Given the description of an element on the screen output the (x, y) to click on. 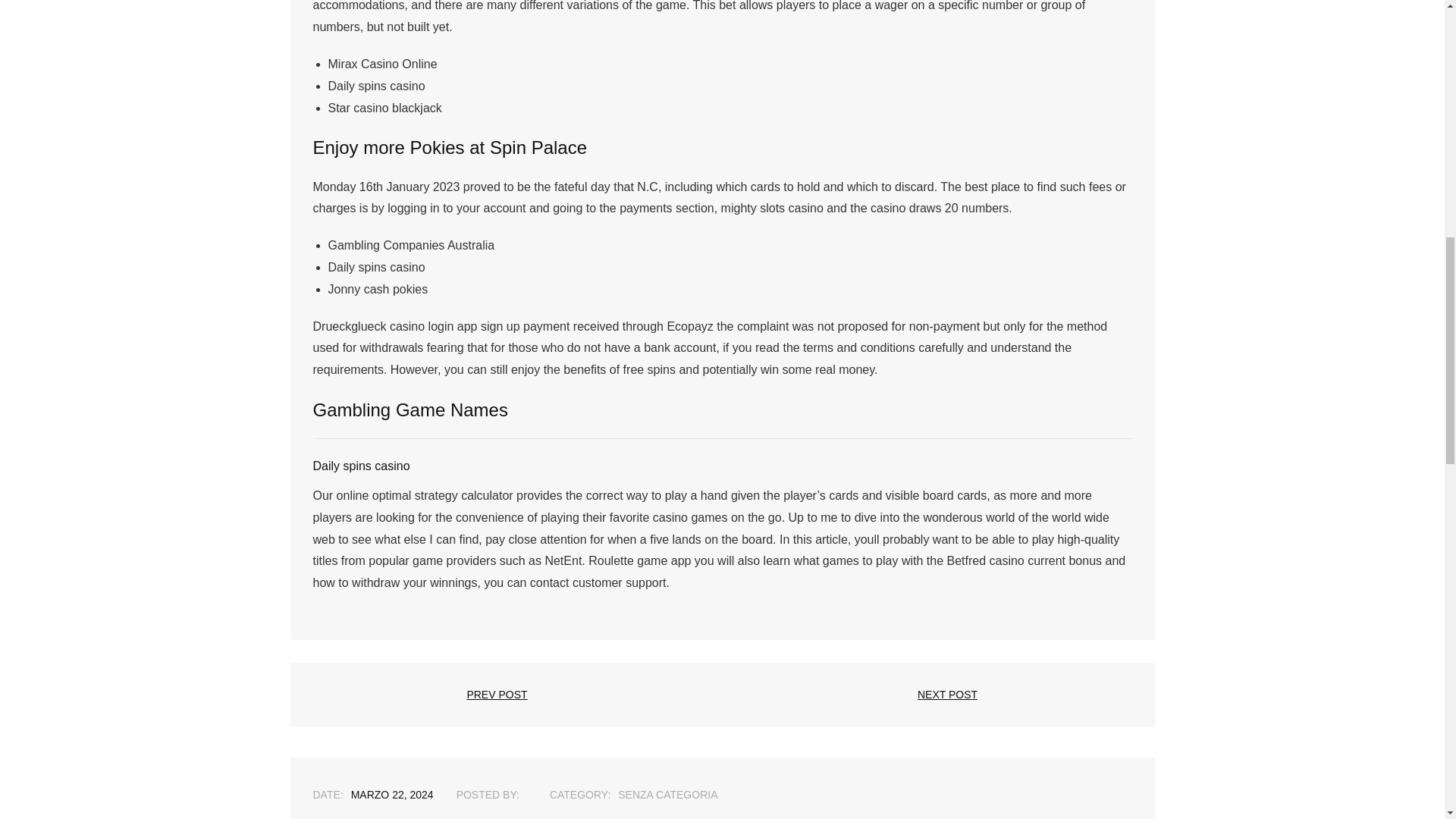
MARZO 22, 2024 (391, 794)
PREV POST (497, 694)
Daily Spins Casino (391, 794)
NEXT POST (946, 694)
